Given the description of an element on the screen output the (x, y) to click on. 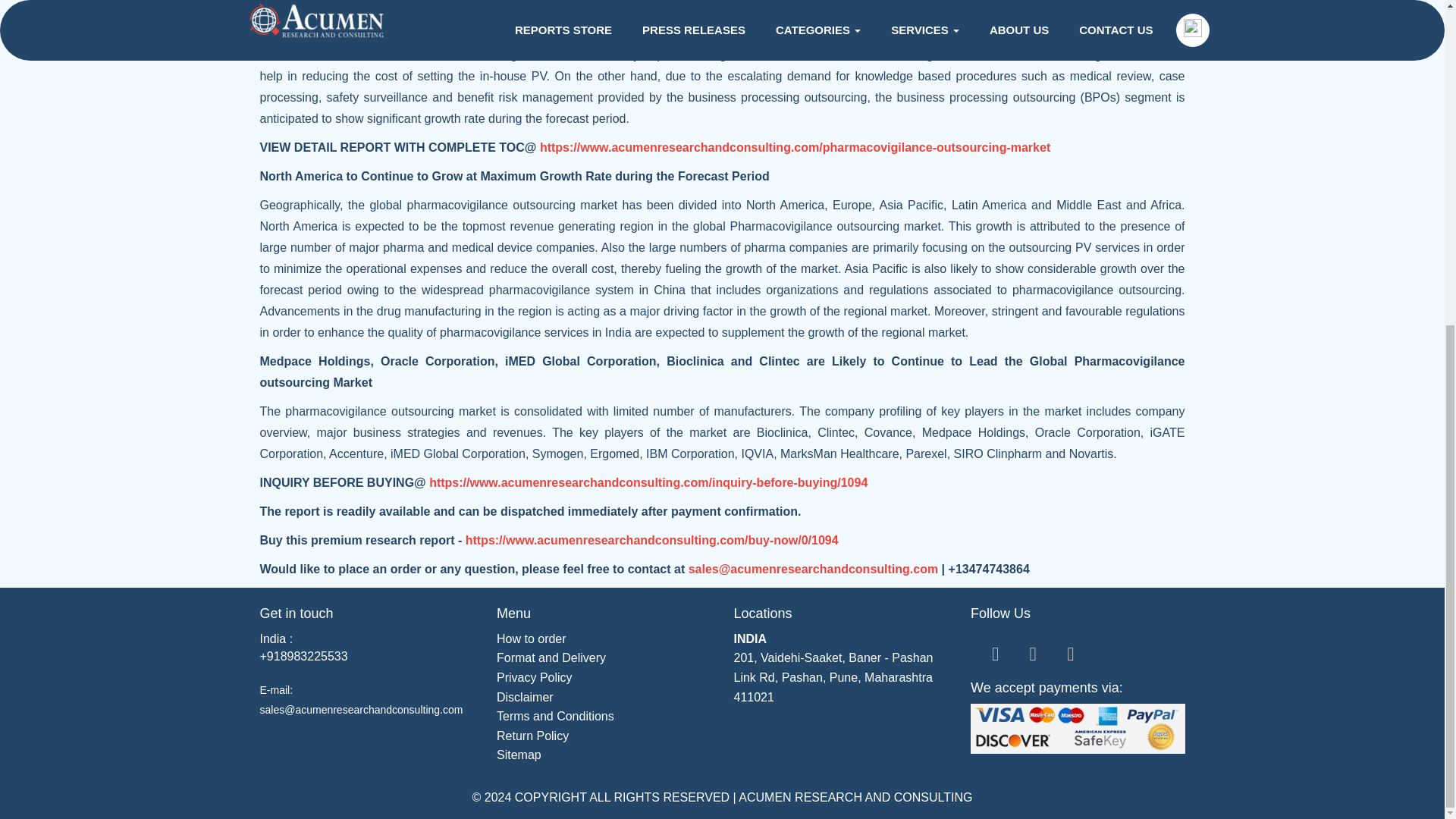
How to order (531, 638)
Format and Delivery (550, 657)
Twitter (994, 653)
Terms and Conditions (555, 716)
Linkedin (1070, 653)
Facebook (1032, 653)
Disclaimer (524, 697)
Privacy Policy (534, 676)
